Given the description of an element on the screen output the (x, y) to click on. 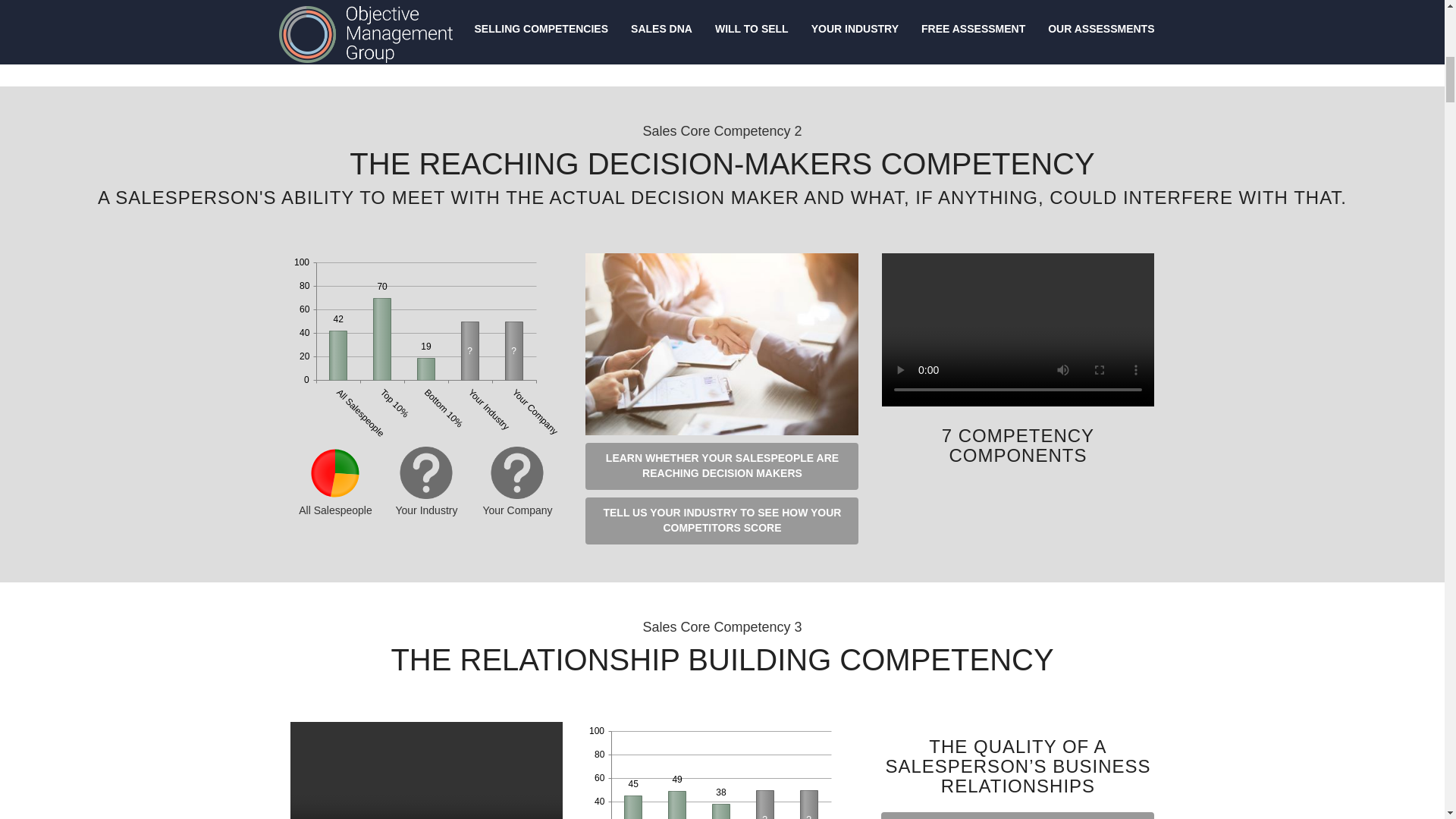
TELL US WHAT INDUSTRY YOU ARE IN TO SEE MORE DATA (423, 24)
LEARN WHETHER YOUR SALESPEOPLE ARE REACHING DECISION MAKERS (722, 466)
FIND OUT HOW WELL YOUR SALESPEOPLE BUILD RELATIONSHIPS (1017, 815)
TELL US YOUR INDUSTRY TO SEE HOW YOUR COMPETITORS SCORE (722, 520)
